Given the description of an element on the screen output the (x, y) to click on. 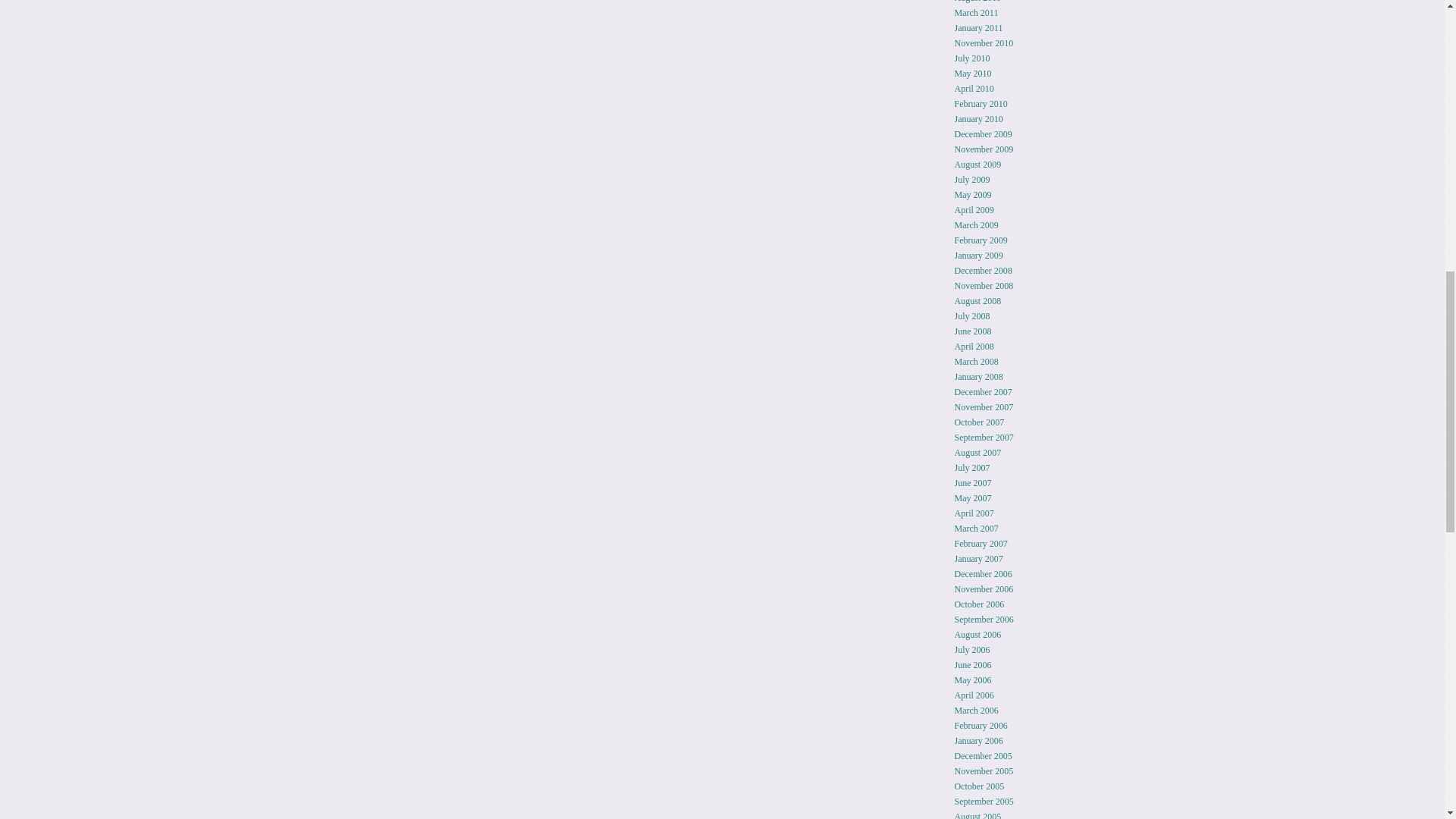
March 2011 (976, 12)
July 2010 (972, 58)
January 2011 (979, 27)
April 2010 (974, 88)
May 2010 (973, 72)
November 2010 (984, 42)
August 2011 (978, 1)
